Given the description of an element on the screen output the (x, y) to click on. 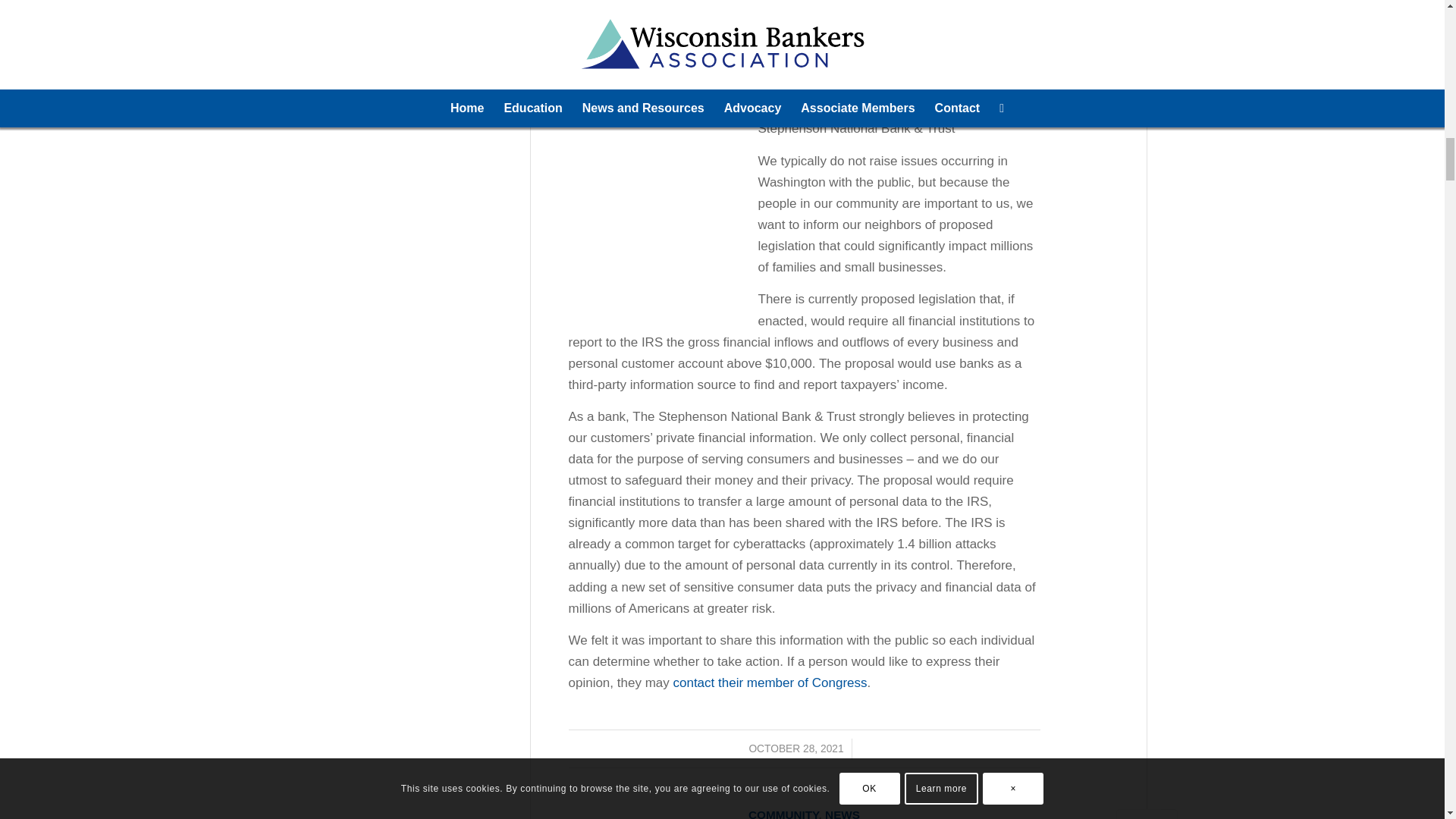
COMMUNITY (783, 813)
Oppose IRS Reporting Proposal to Protect Privacy (803, 25)
NEWS (842, 813)
contact their member of Congress (769, 682)
